Given the description of an element on the screen output the (x, y) to click on. 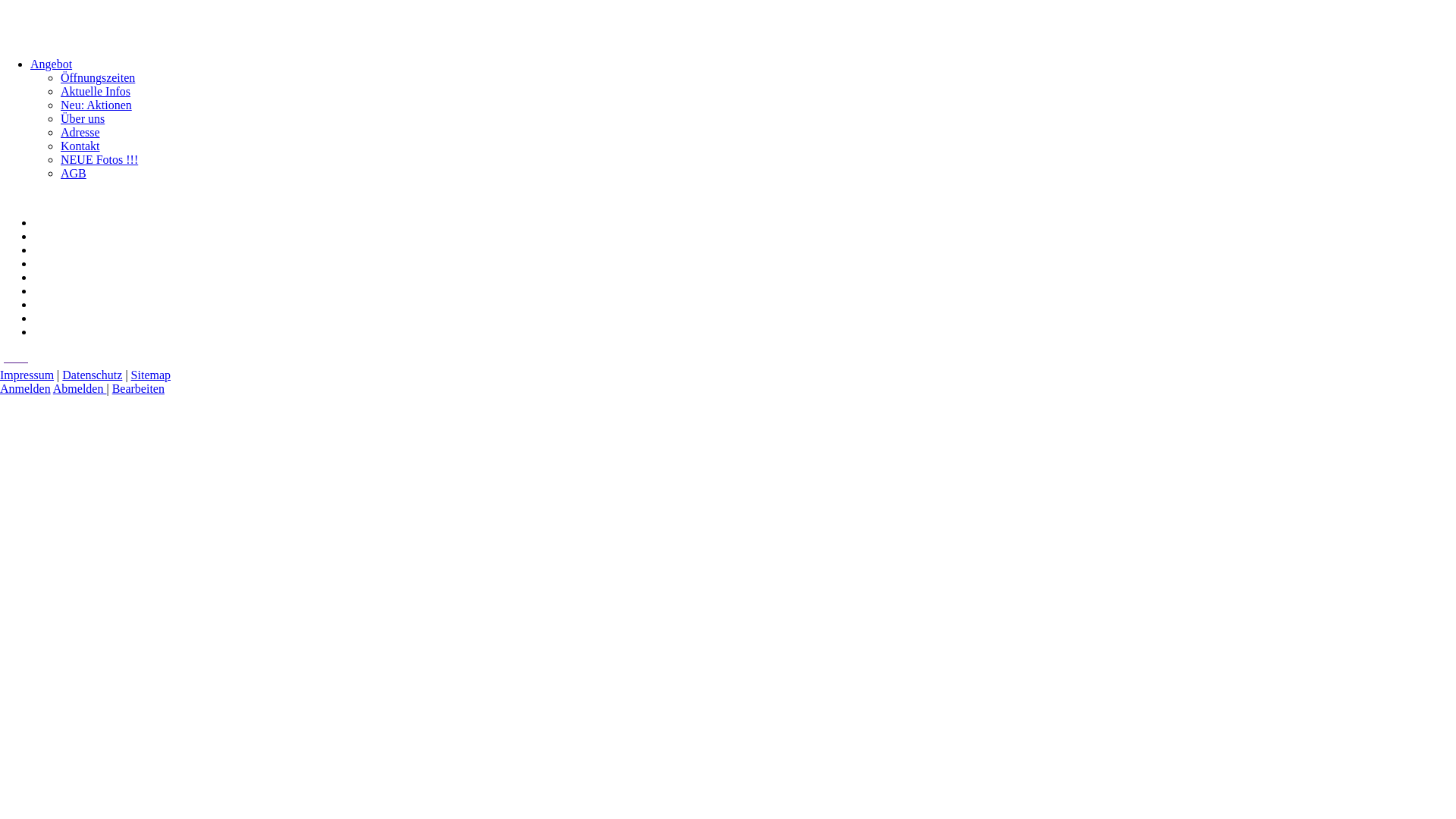
NEUE Fotos !!! Element type: text (99, 159)
Datenschutz Element type: text (92, 374)
Angebot Element type: text (51, 63)
Aktuelle Infos Element type: text (95, 90)
Adresse Element type: text (80, 131)
AGB Element type: text (73, 172)
Abmelden Element type: text (79, 388)
Bearbeiten Element type: text (138, 388)
Sitemap Element type: text (150, 374)
Anmelden Element type: text (25, 388)
Kontakt Element type: text (80, 145)
Neu: Aktionen Element type: text (95, 104)
Impressum Element type: text (26, 374)
